Given the description of an element on the screen output the (x, y) to click on. 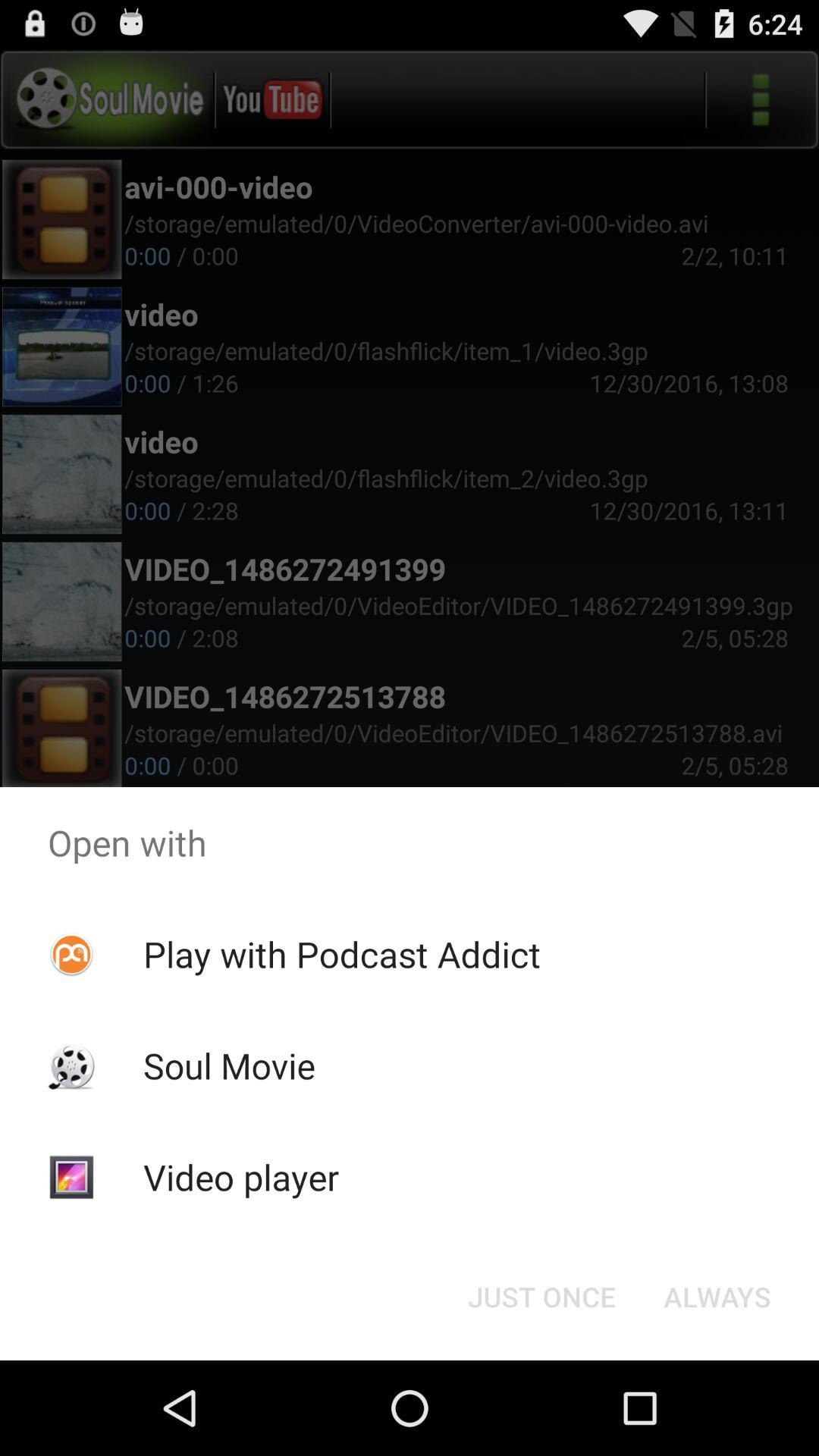
launch just once at the bottom (541, 1296)
